Given the description of an element on the screen output the (x, y) to click on. 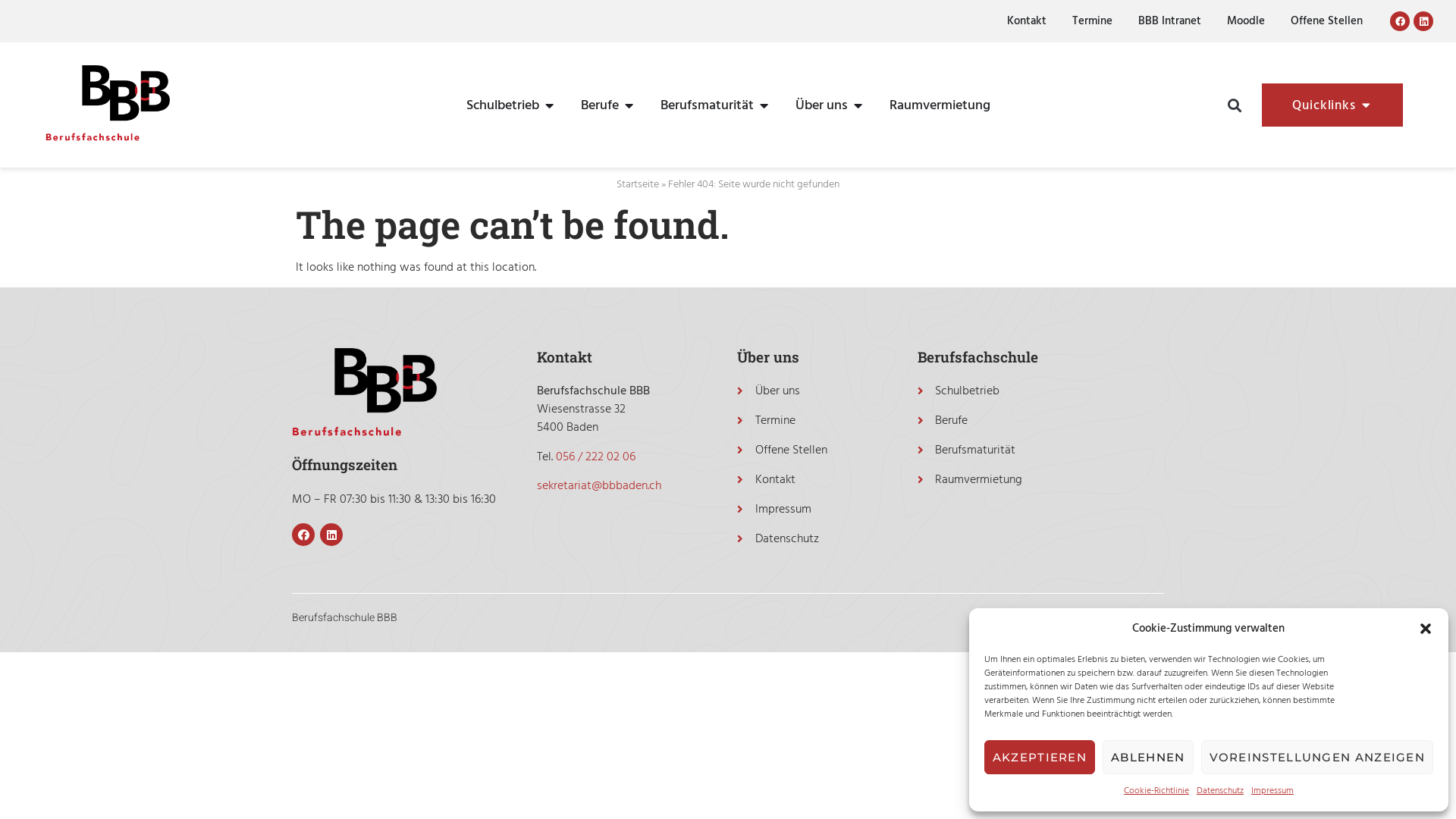
Cookie-Richtlinie Element type: text (1156, 790)
Termine Element type: text (1092, 21)
AKZEPTIEREN Element type: text (1039, 757)
aretis.ch Element type: text (1145, 616)
Termine Element type: text (827, 420)
Impressum Element type: text (1272, 790)
ABLEHNEN Element type: text (1147, 757)
VOREINSTELLUNGEN ANZEIGEN Element type: text (1317, 757)
Moodle Element type: text (1245, 21)
Raumvermietung Element type: text (1040, 479)
Offene Stellen Element type: text (1326, 21)
Offene Stellen Element type: text (827, 449)
056 / 222 02 06 Element type: text (595, 456)
Kontakt Element type: text (1026, 21)
Schulbetrieb Element type: text (1040, 390)
Raumvermietung Element type: text (938, 105)
BBB Intranet Element type: text (1169, 21)
sekretariat@bbbaden.ch Element type: text (598, 484)
Schulbetrieb Element type: text (501, 105)
Datenschutz Element type: text (827, 538)
Berufe Element type: text (599, 105)
Kontakt Element type: text (827, 479)
Startseite Element type: text (637, 184)
Impressum Element type: text (827, 508)
Berufe Element type: text (1040, 420)
Datenschutz Element type: text (1219, 790)
